Given the description of an element on the screen output the (x, y) to click on. 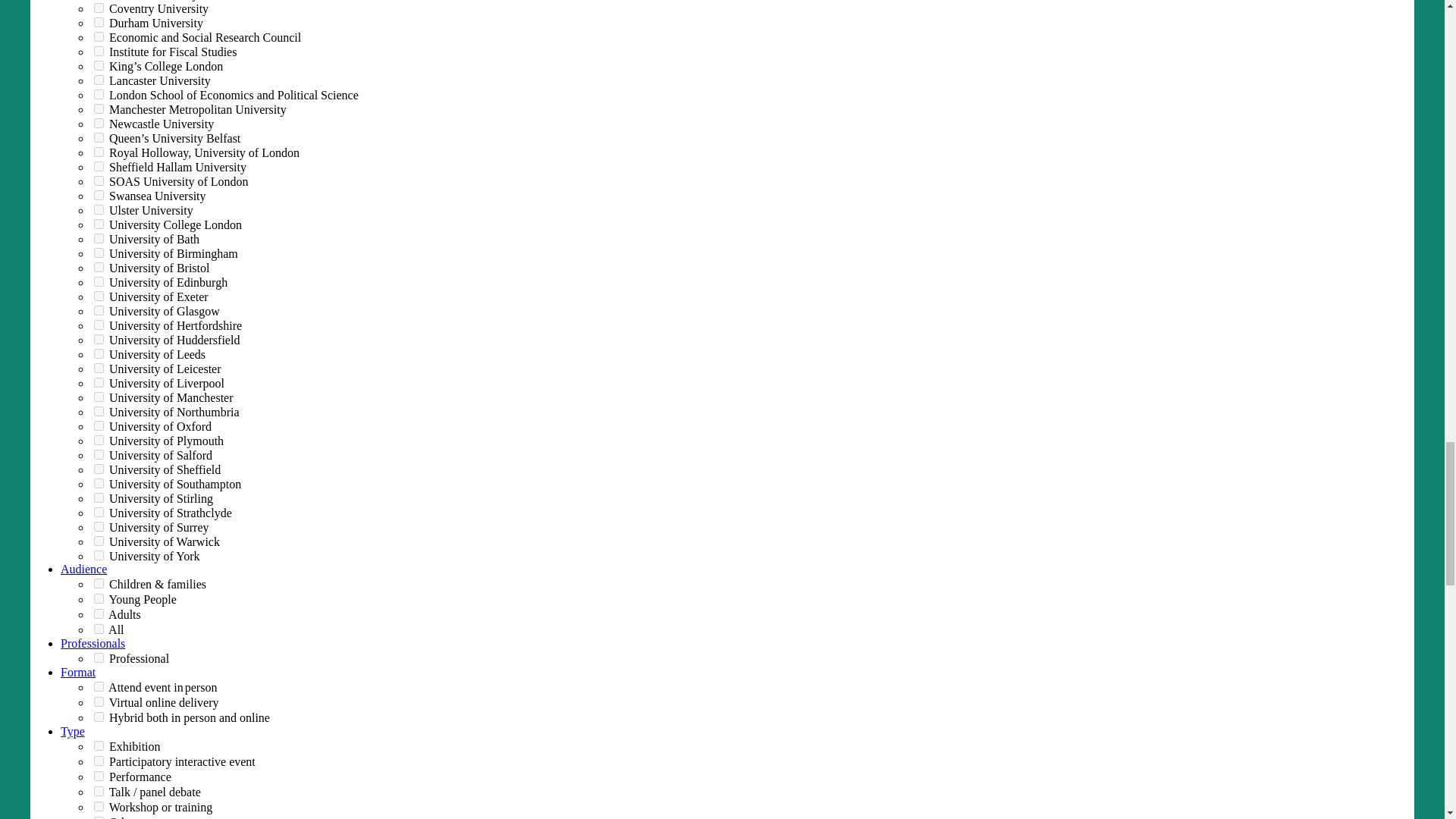
Format (78, 671)
Professionals (93, 643)
Coventry University (98, 8)
Audience (83, 568)
Durham University (98, 22)
Economic and Social Research Council (98, 36)
Type (72, 730)
